Given the description of an element on the screen output the (x, y) to click on. 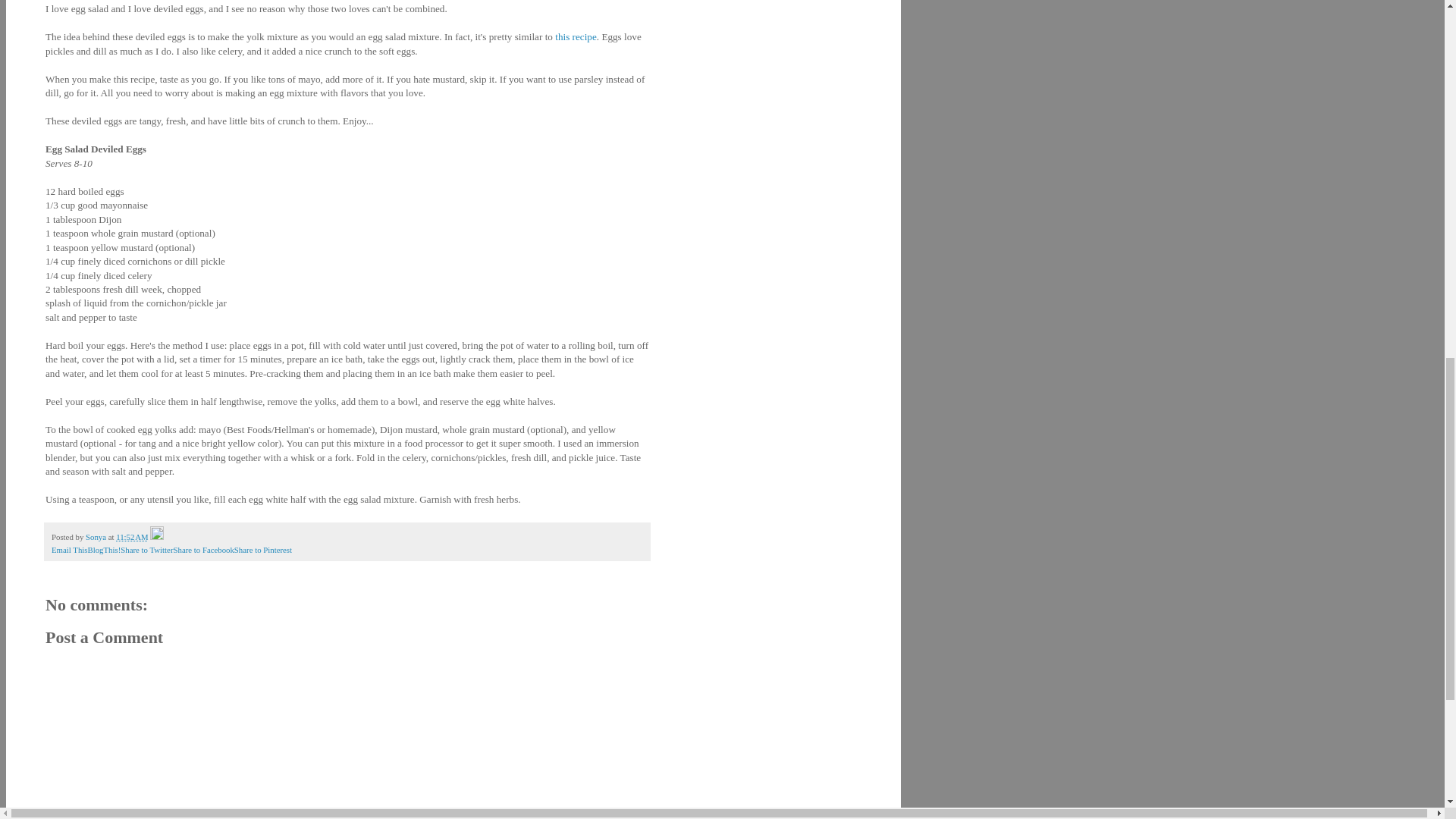
Edit Post (156, 536)
Email This (68, 549)
author profile (96, 536)
BlogThis! (103, 549)
Email This (68, 549)
this recipe (575, 36)
BlogThis! (103, 549)
Share to Facebook (202, 549)
Share to Twitter (146, 549)
Share to Facebook (202, 549)
Sonya (96, 536)
permanent link (132, 536)
Share to Pinterest (263, 549)
Share to Twitter (146, 549)
